Given the description of an element on the screen output the (x, y) to click on. 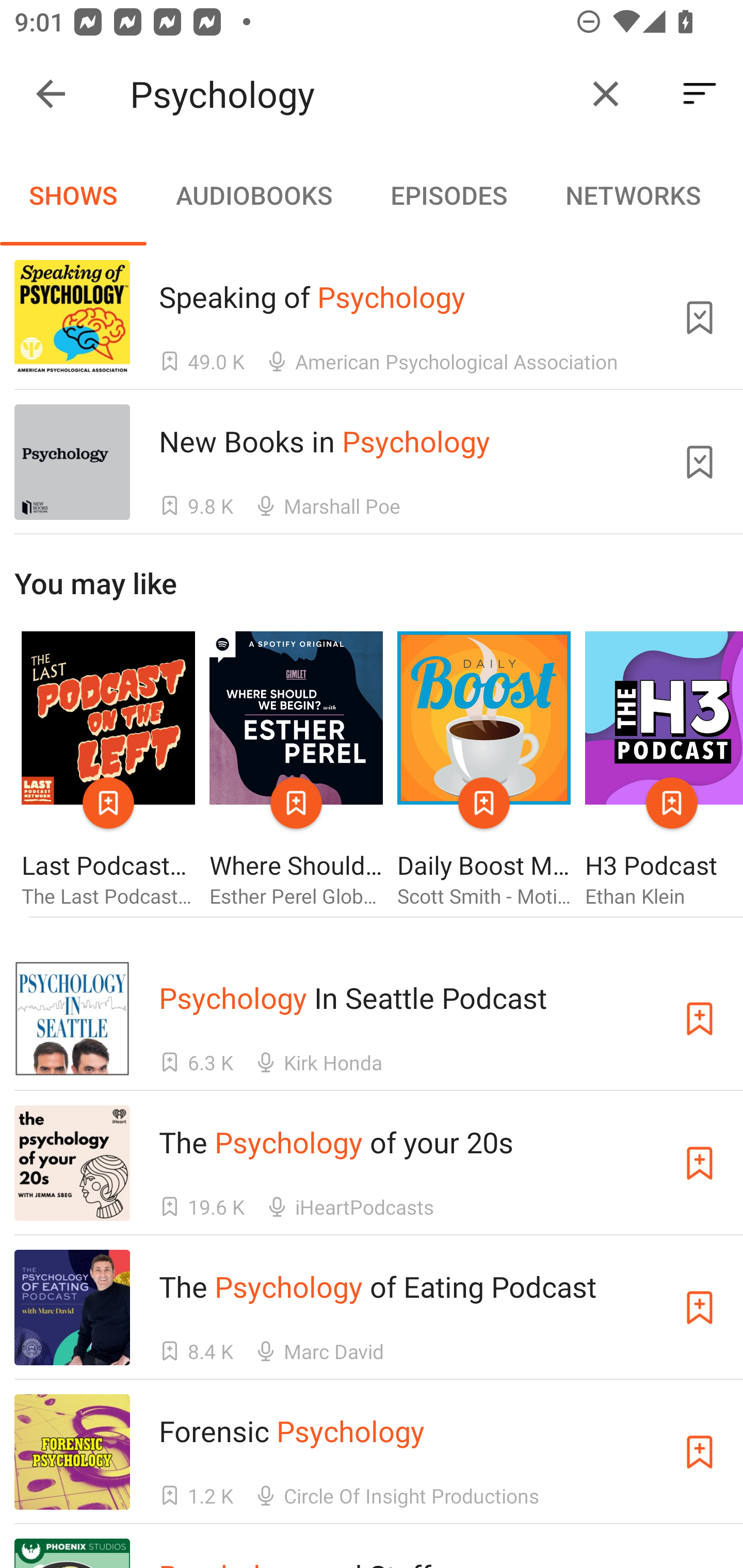
Collapse (50, 93)
Clear query (605, 93)
Sort By (699, 93)
Psychology (349, 94)
SHOWS (73, 195)
AUDIOBOOKS (253, 195)
EPISODES (448, 195)
NETWORKS (632, 195)
Unsubscribe (699, 317)
Unsubscribe (699, 462)
Last Podcast On The Left The Last Podcast Network (107, 770)
H3 Podcast Ethan Klein (664, 770)
Subscribe (699, 1019)
Subscribe (699, 1163)
Subscribe (699, 1307)
Subscribe (699, 1451)
